Given the description of an element on the screen output the (x, y) to click on. 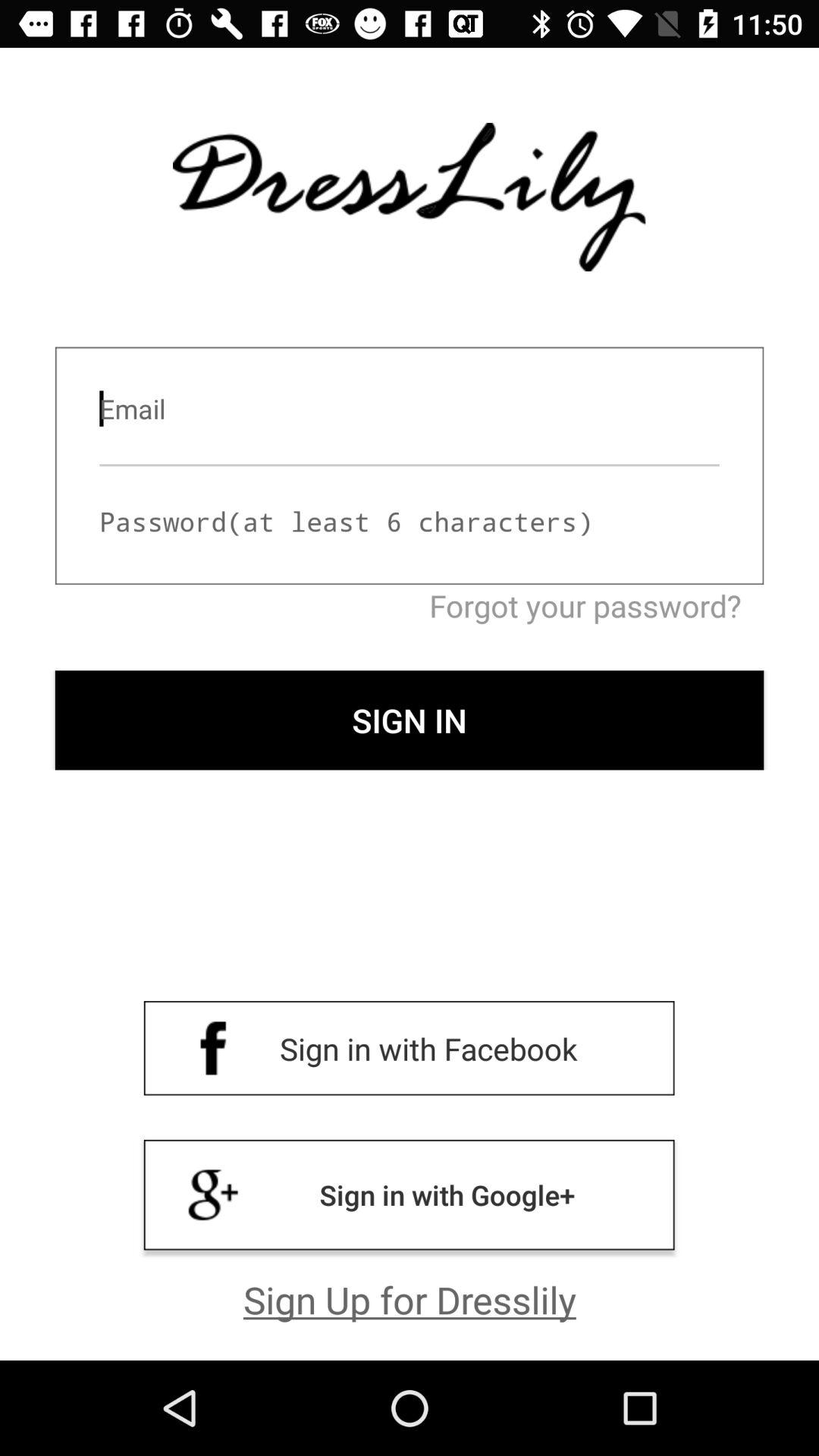
select forgot your password? item (409, 605)
